Given the description of an element on the screen output the (x, y) to click on. 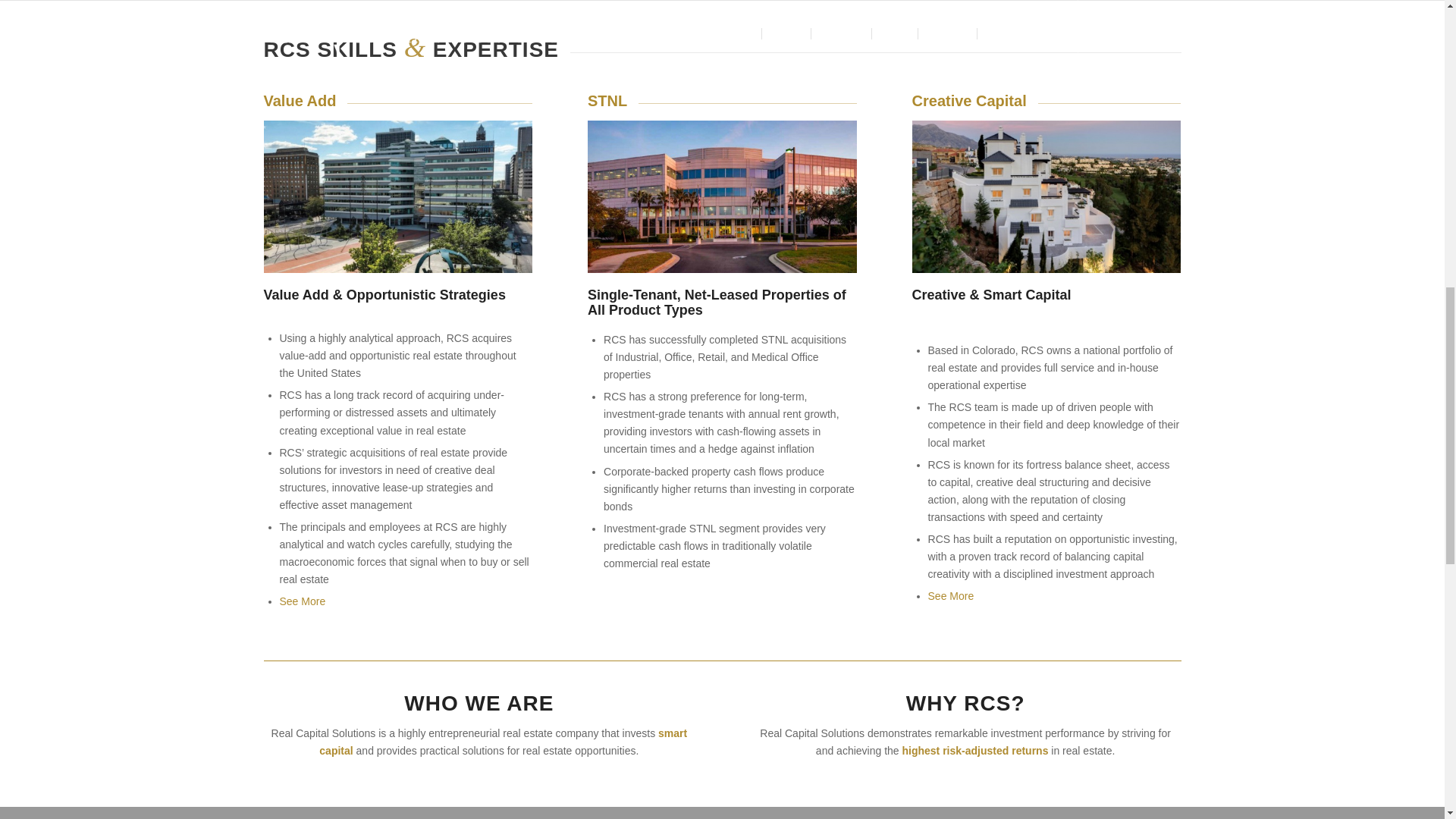
Commercial Initiative (397, 196)
See More (951, 595)
Spain Initiative (1046, 196)
See More (301, 601)
STNL (722, 196)
